Given the description of an element on the screen output the (x, y) to click on. 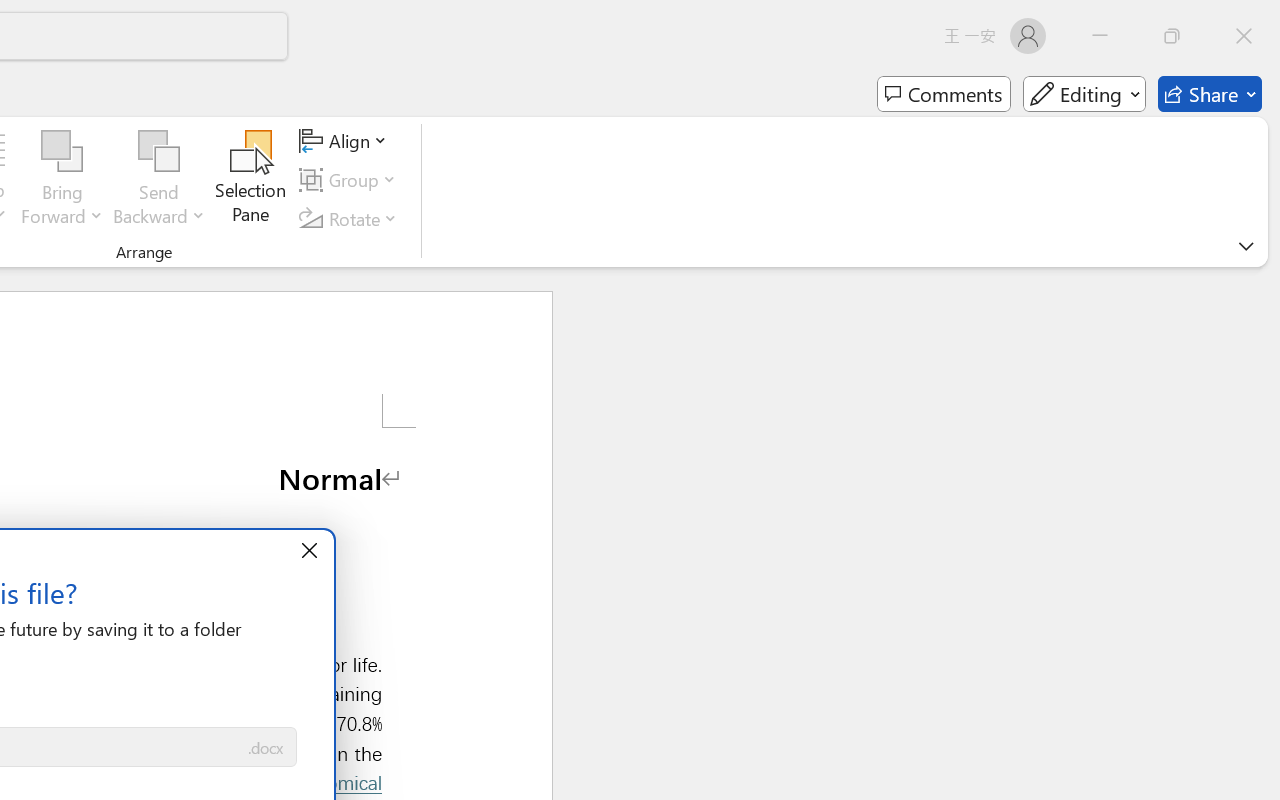
Align (346, 141)
Bring Forward (62, 151)
Send Backward (159, 151)
